Given the description of an element on the screen output the (x, y) to click on. 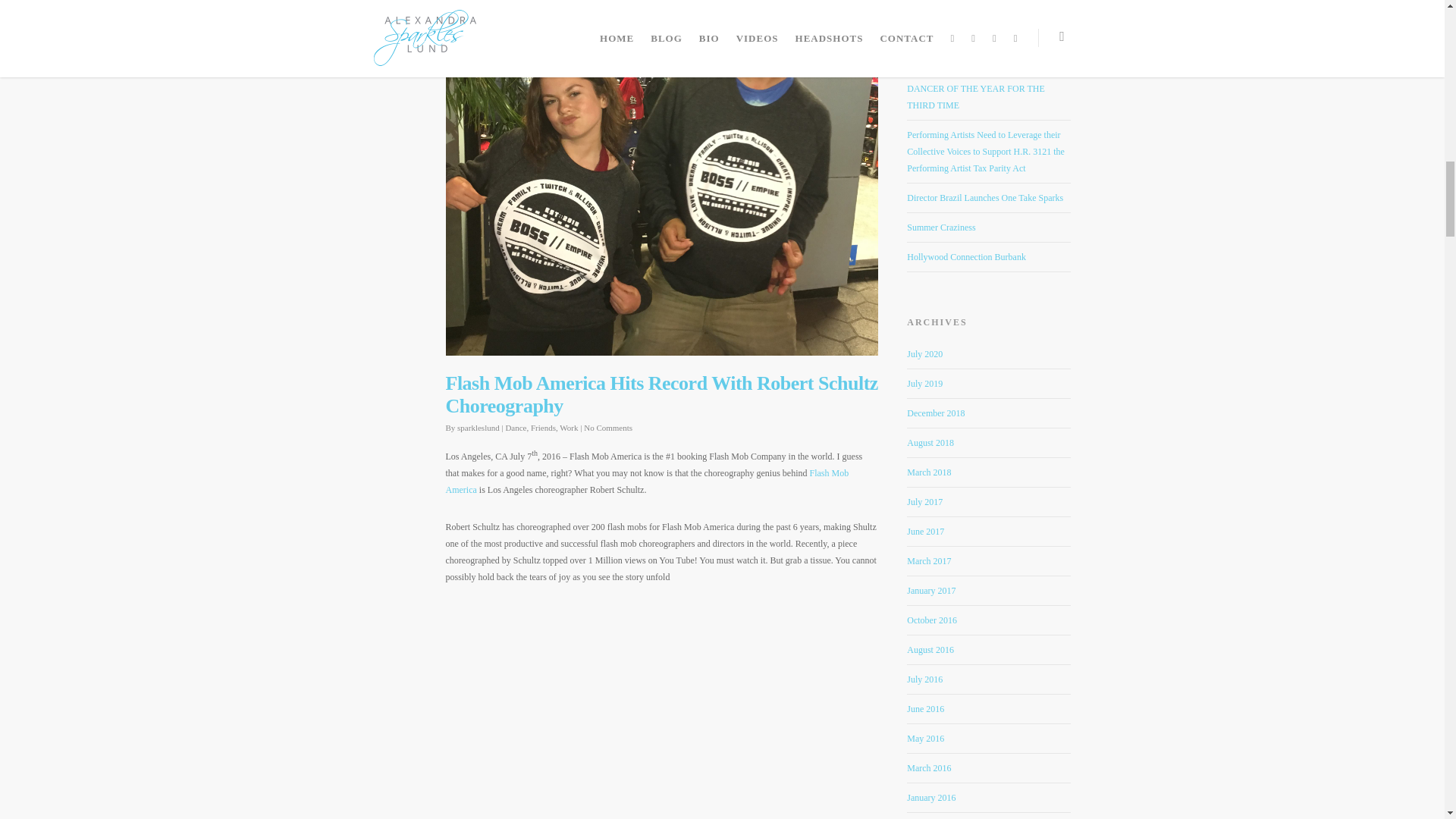
Work (568, 427)
sparkleslund (478, 427)
Posts by sparkleslund (478, 427)
Love this (399, 1)
Dance (515, 427)
No Comments (607, 427)
3 (399, 1)
Friends (543, 427)
YouTube video player (661, 712)
Flash Mob America (646, 481)
